Given the description of an element on the screen output the (x, y) to click on. 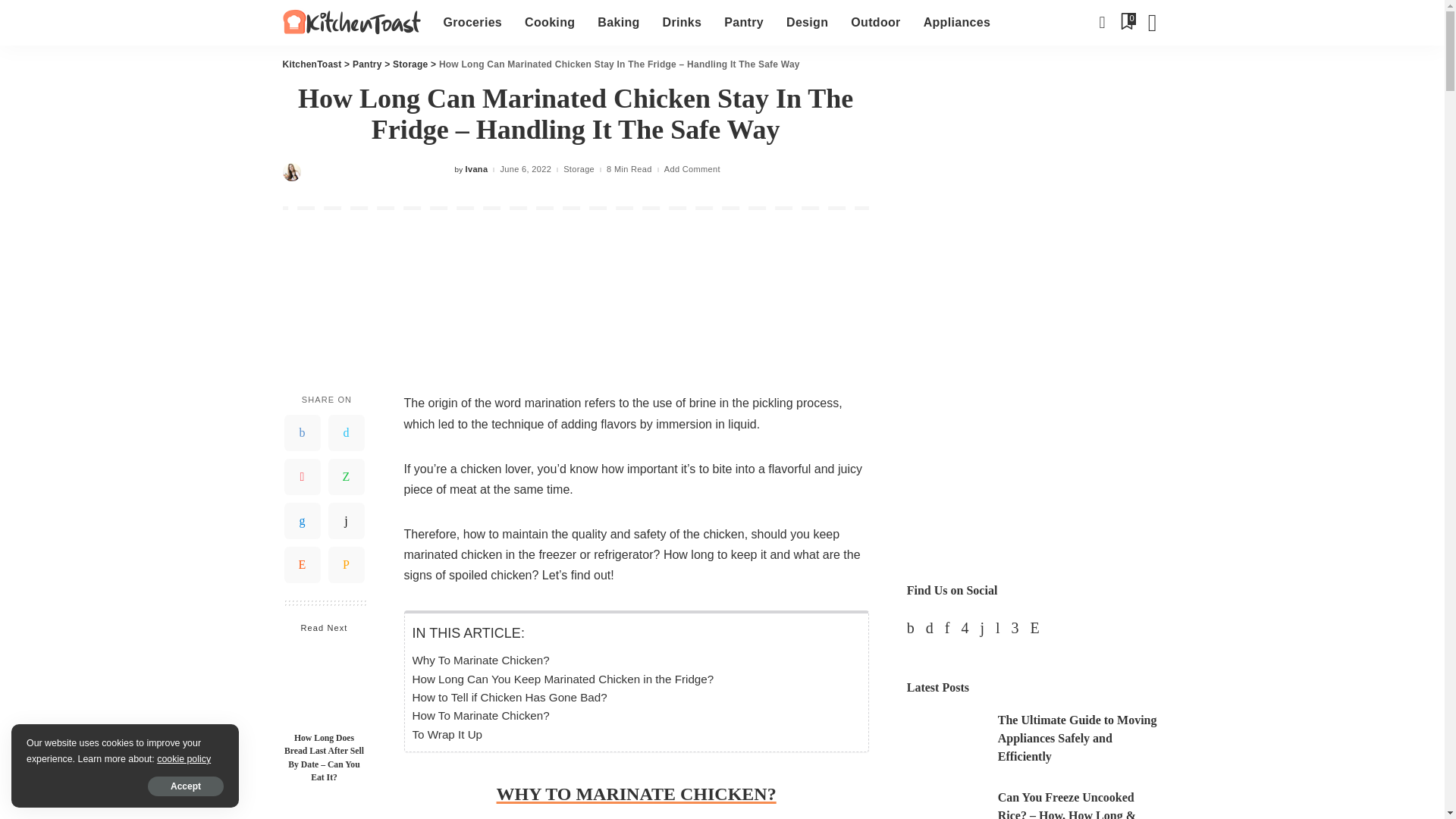
Groceries (472, 22)
KitchenToast (351, 22)
Cooking (549, 22)
Baking (618, 22)
Drinks (681, 22)
Pantry (743, 22)
Outdoor (875, 22)
Appliances (957, 22)
Design (807, 22)
